Given the description of an element on the screen output the (x, y) to click on. 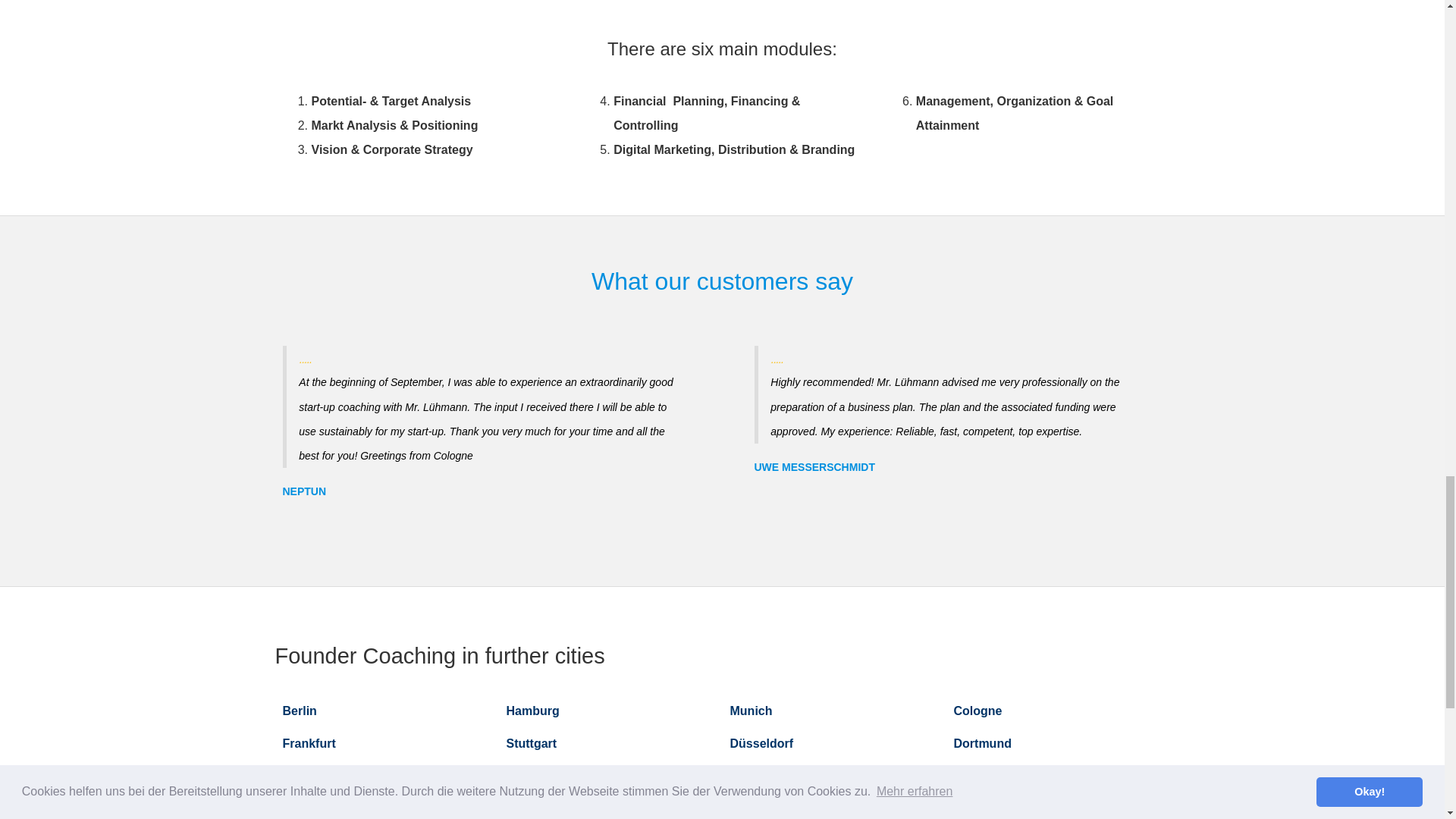
Essen (299, 775)
Cologne (978, 710)
Berlin (298, 710)
Hamburg (532, 710)
Dortmund (982, 743)
Dresden (978, 775)
Bremen (751, 775)
Leipzig (527, 775)
Frankfurt (308, 743)
Stuttgart (531, 743)
Munich (750, 710)
